Given the description of an element on the screen output the (x, y) to click on. 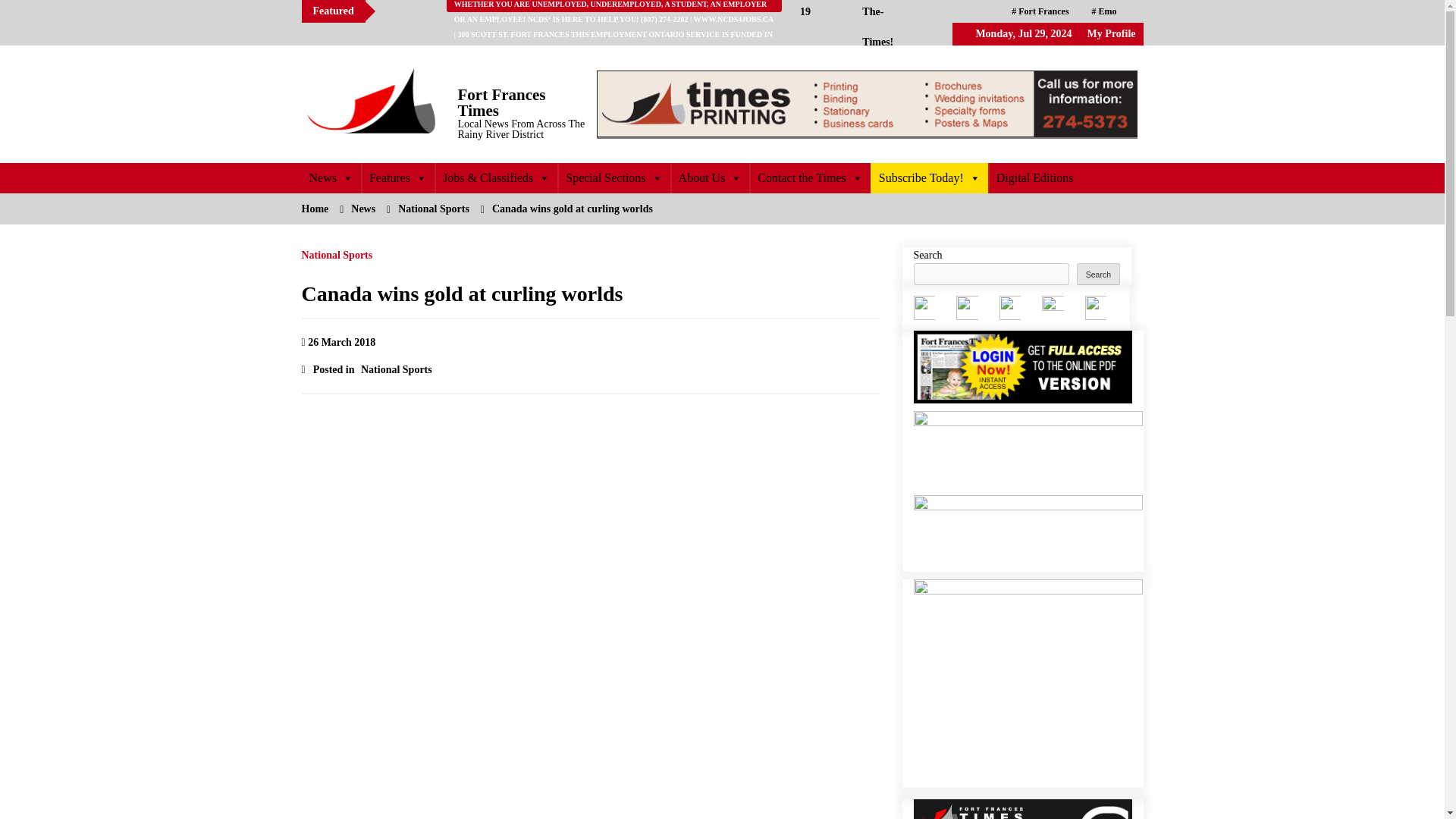
My Profile (1111, 33)
Emo (1104, 11)
News (331, 177)
Features (397, 177)
Ontario (1030, 33)
Dryden (1090, 33)
Fort Frances (1040, 11)
Fort Frances Times (502, 102)
